Given the description of an element on the screen output the (x, y) to click on. 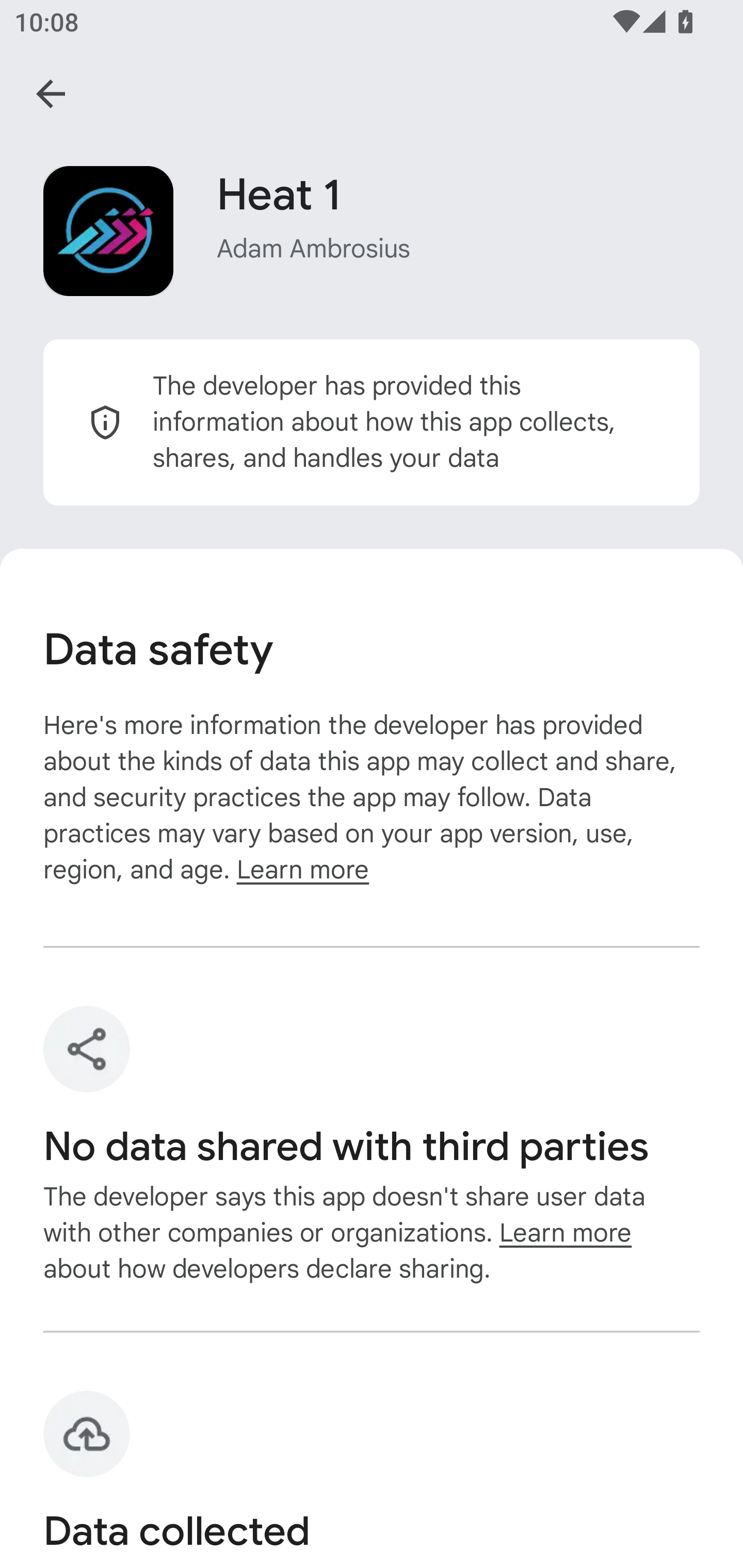
Navigate up (50, 93)
